Given the description of an element on the screen output the (x, y) to click on. 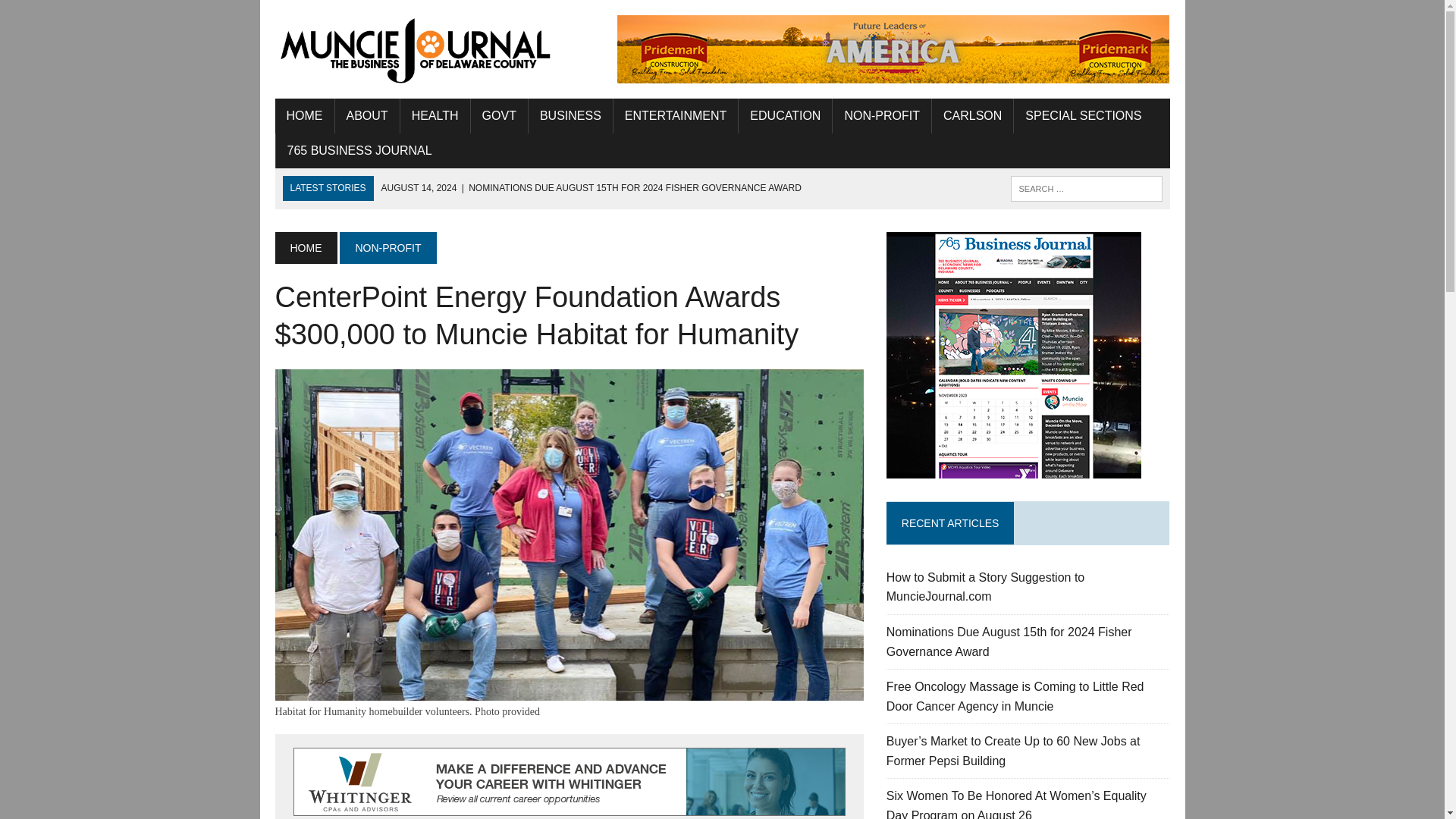
Nominations Due August 15th for 2024 Fisher Governance Award (591, 187)
Govt (498, 115)
ENTERTAINMENT (675, 115)
NON-PROFIT (881, 115)
GOVT (498, 115)
EDUCATION (784, 115)
HOME (304, 115)
SPECIAL SECTIONS (1083, 115)
Muncie Journal (416, 49)
HEALTH (435, 115)
